Given the description of an element on the screen output the (x, y) to click on. 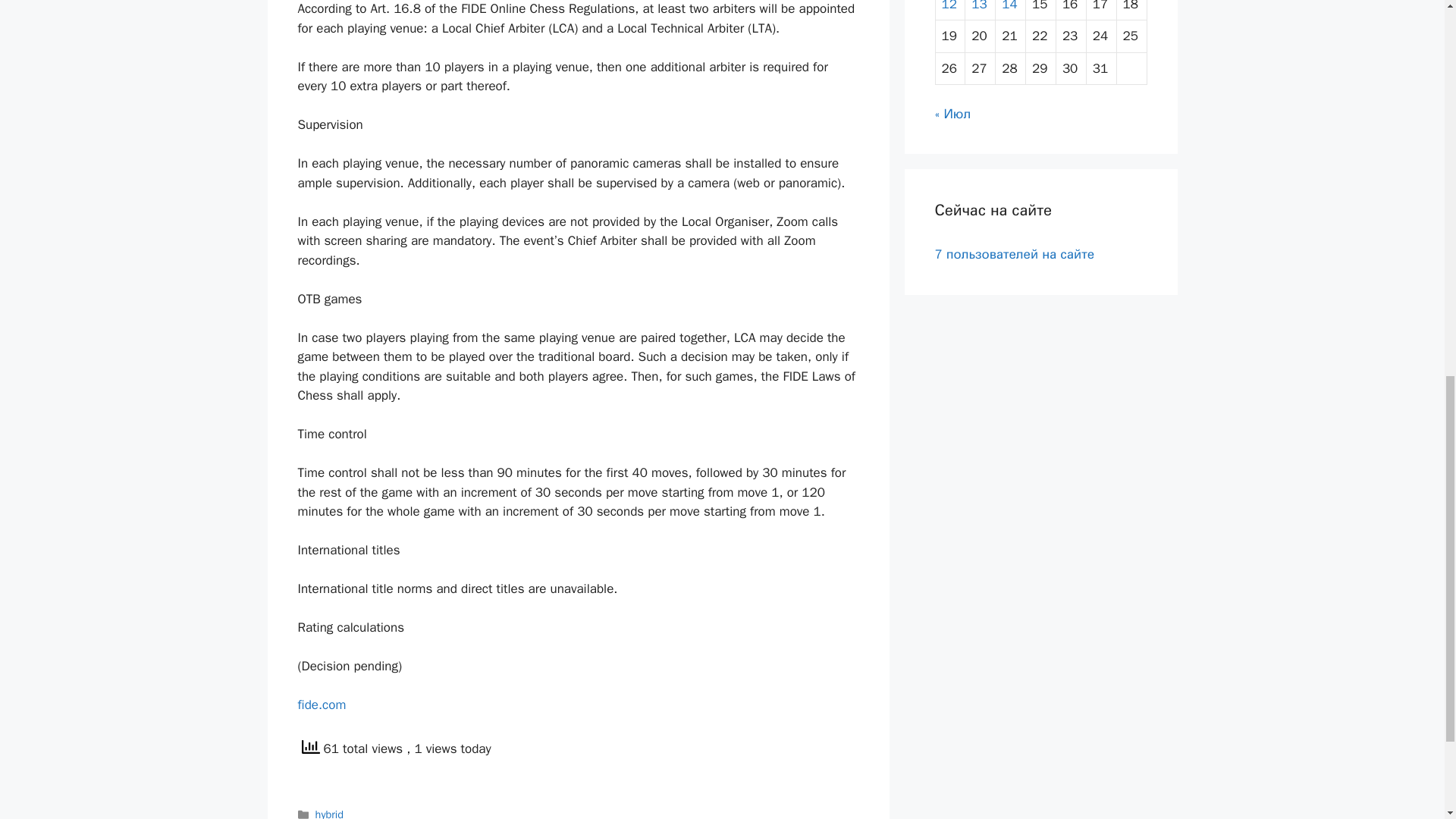
hybrid (329, 813)
fide.com (321, 704)
12 (949, 5)
14 (1008, 5)
13 (979, 5)
